Given the description of an element on the screen output the (x, y) to click on. 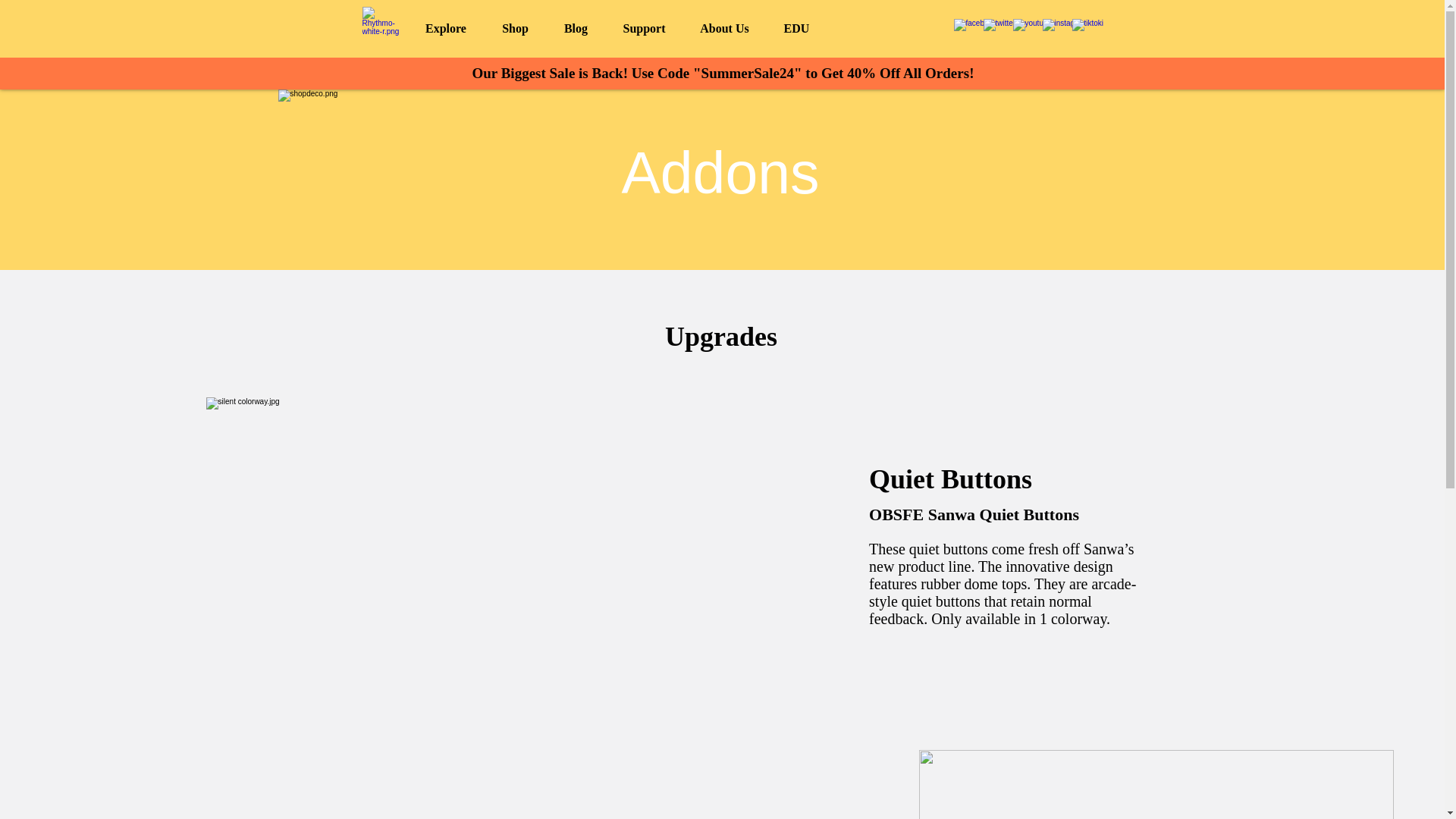
About Us (723, 28)
Shop (514, 28)
P1033421-1.png (1155, 784)
Blog (575, 28)
